Given the description of an element on the screen output the (x, y) to click on. 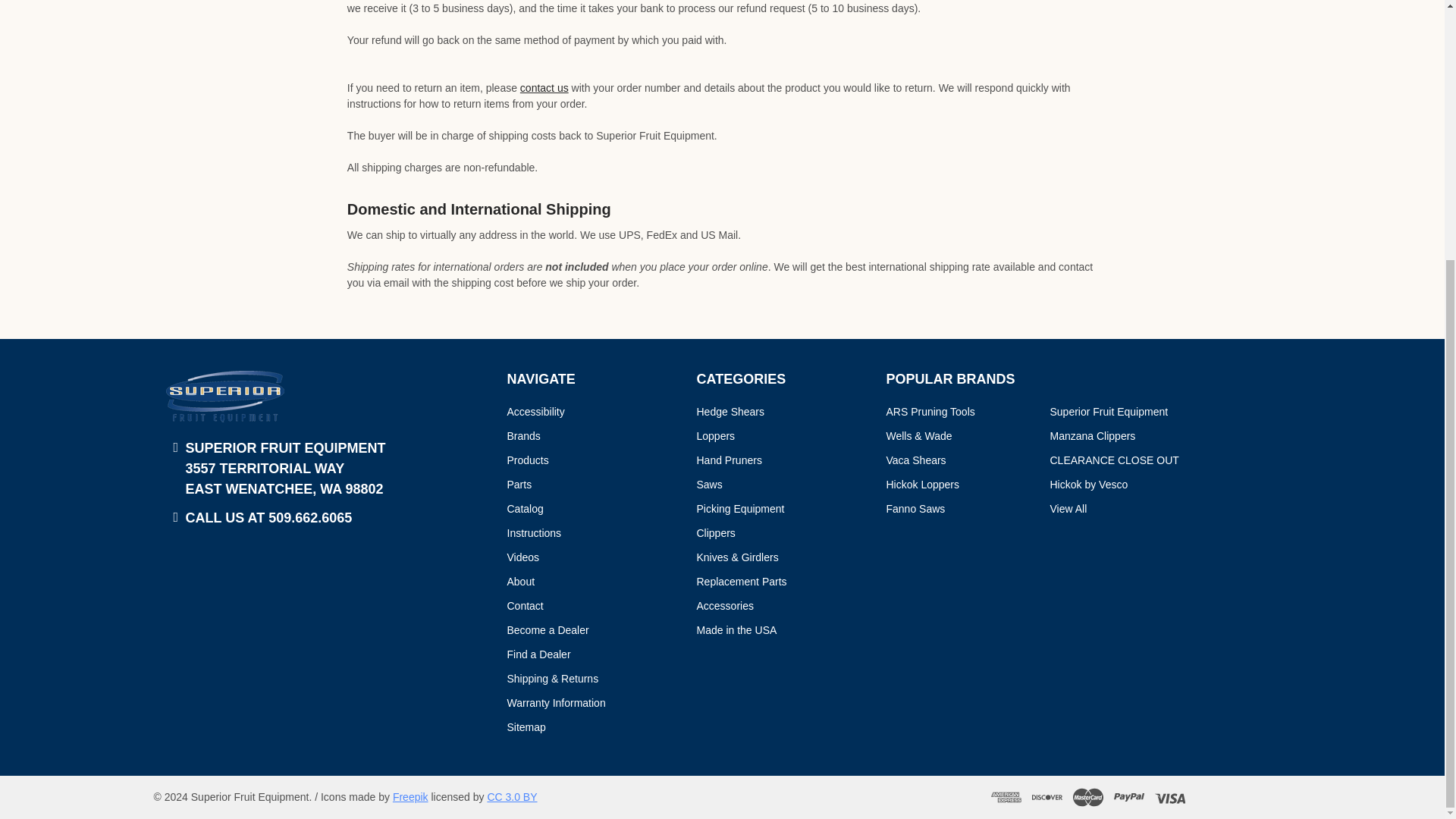
Freepik (410, 797)
Creative Commons BY 3.0 (511, 797)
